Given the description of an element on the screen output the (x, y) to click on. 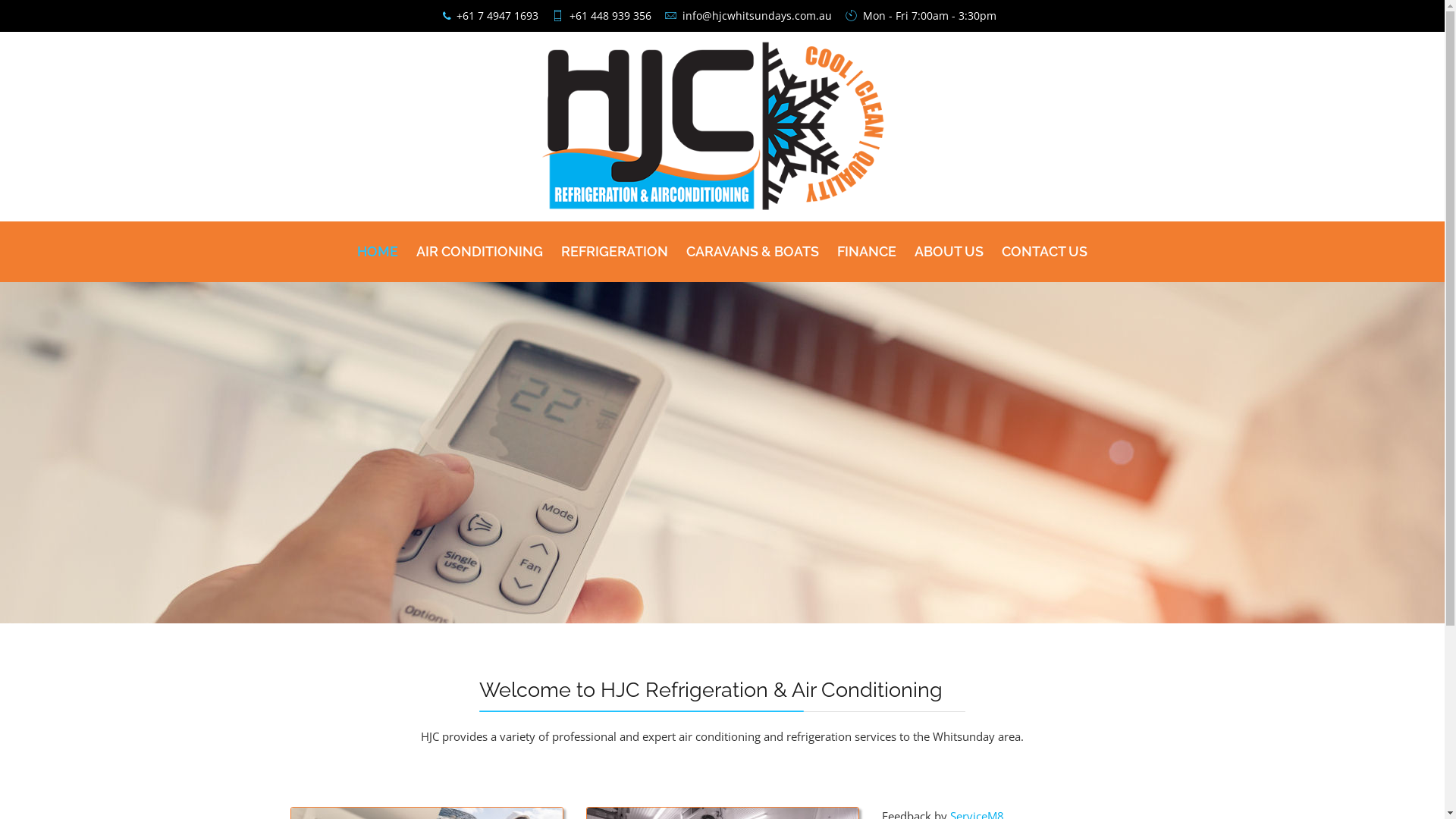
AIR CONDITIONING Element type: text (479, 278)
HOME Element type: text (377, 278)
ABOUT US Element type: text (948, 278)
+61 7 4947 1693 Element type: text (497, 15)
REFRIGERATION Element type: text (614, 278)
CARAVANS & BOATS Element type: text (752, 278)
info@hjcwhitsundays.com.au Element type: text (756, 15)
CONTACT US Element type: text (1044, 278)
+61 448 939 356 Element type: text (610, 15)
FINANCE Element type: text (866, 278)
